Given the description of an element on the screen output the (x, y) to click on. 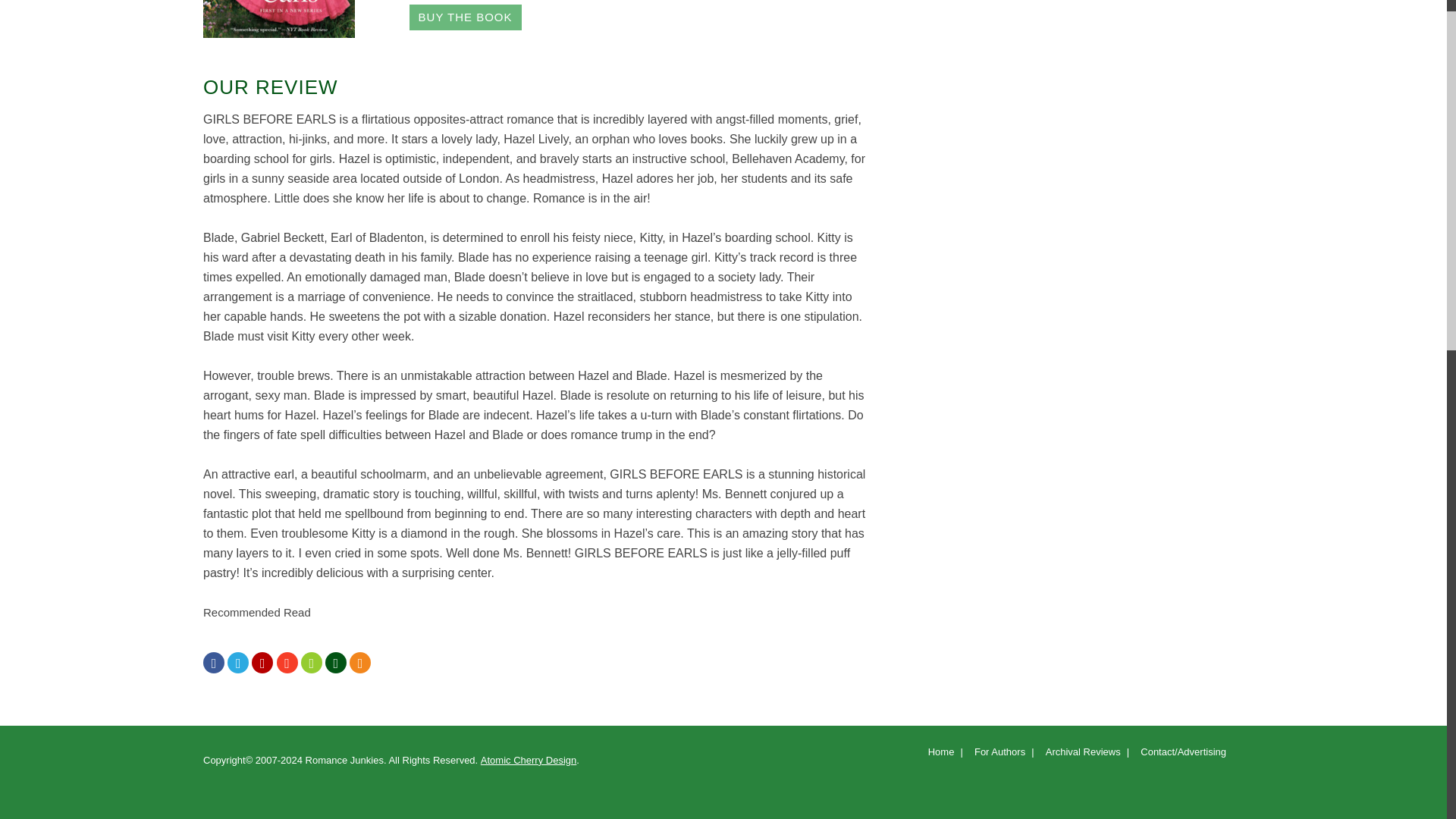
Share on Facebook (213, 663)
Atomic Cherry Design (528, 760)
Archival Reviews (1081, 755)
BUY THE BOOK (465, 17)
Home (939, 755)
Tweet Me! (237, 663)
Printer Friendly Article (335, 663)
Pin it! (262, 663)
Email to a Friend (311, 663)
For Authors (997, 755)
Girls Before Earls (279, 18)
Girls Before Earls (465, 17)
